Given the description of an element on the screen output the (x, y) to click on. 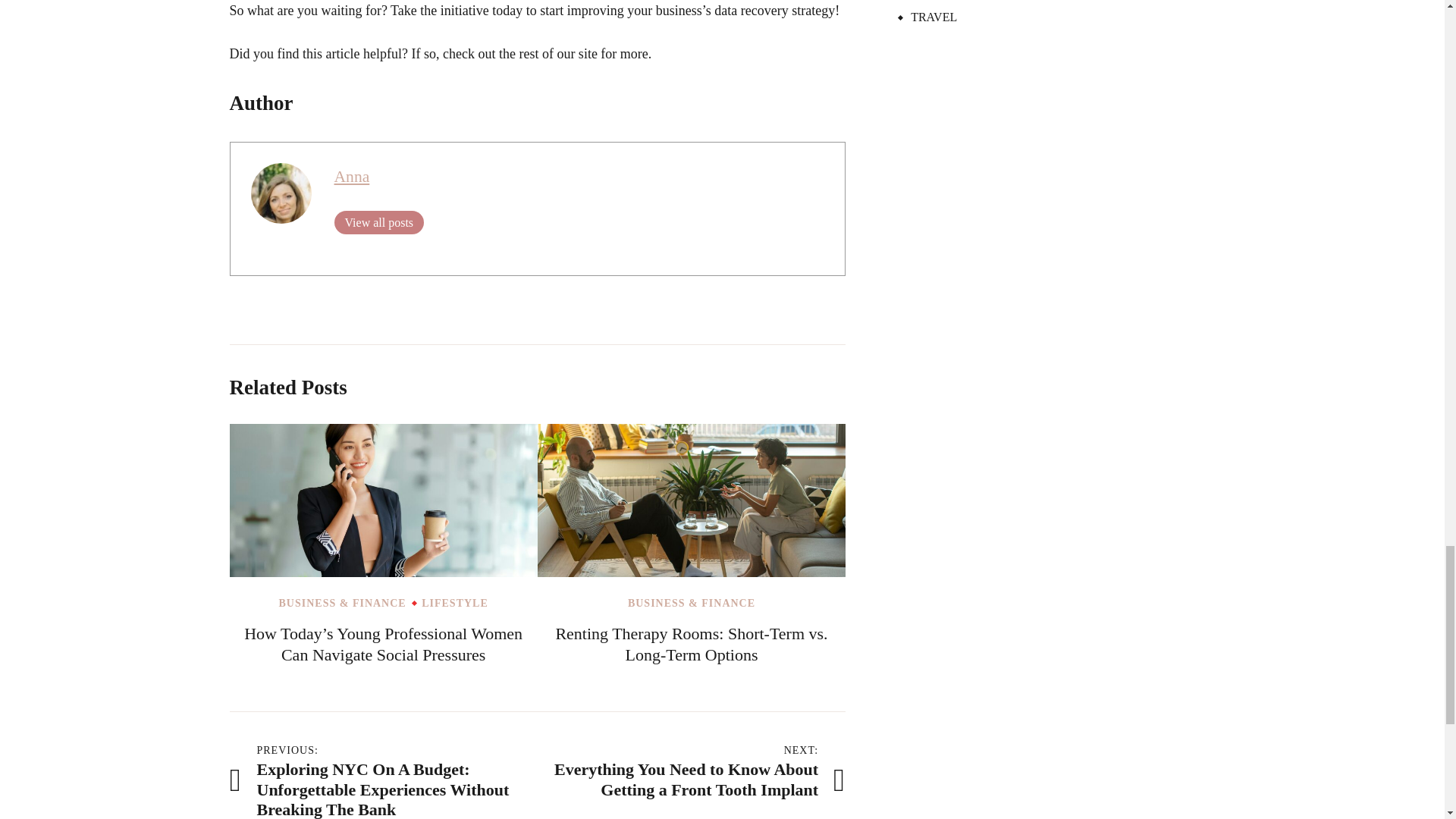
Renting Therapy Rooms: Short-Term vs. Long-Term Options (690, 644)
View all posts (378, 222)
Anna (351, 176)
Anna (351, 176)
LIFESTYLE (455, 603)
View all posts (378, 222)
